Given the description of an element on the screen output the (x, y) to click on. 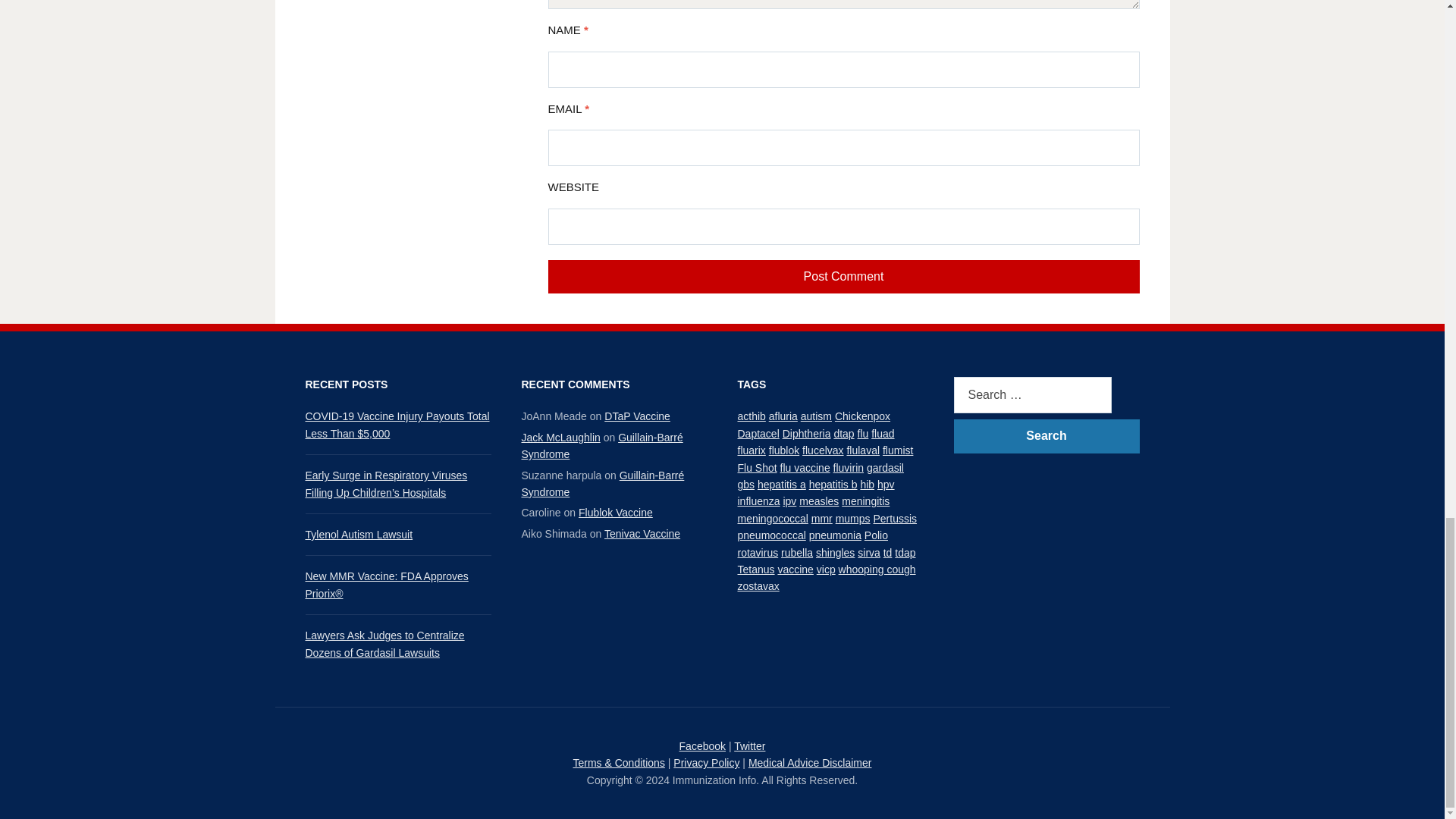
Search (1046, 436)
Search (1046, 436)
Post Comment (842, 277)
